Given the description of an element on the screen output the (x, y) to click on. 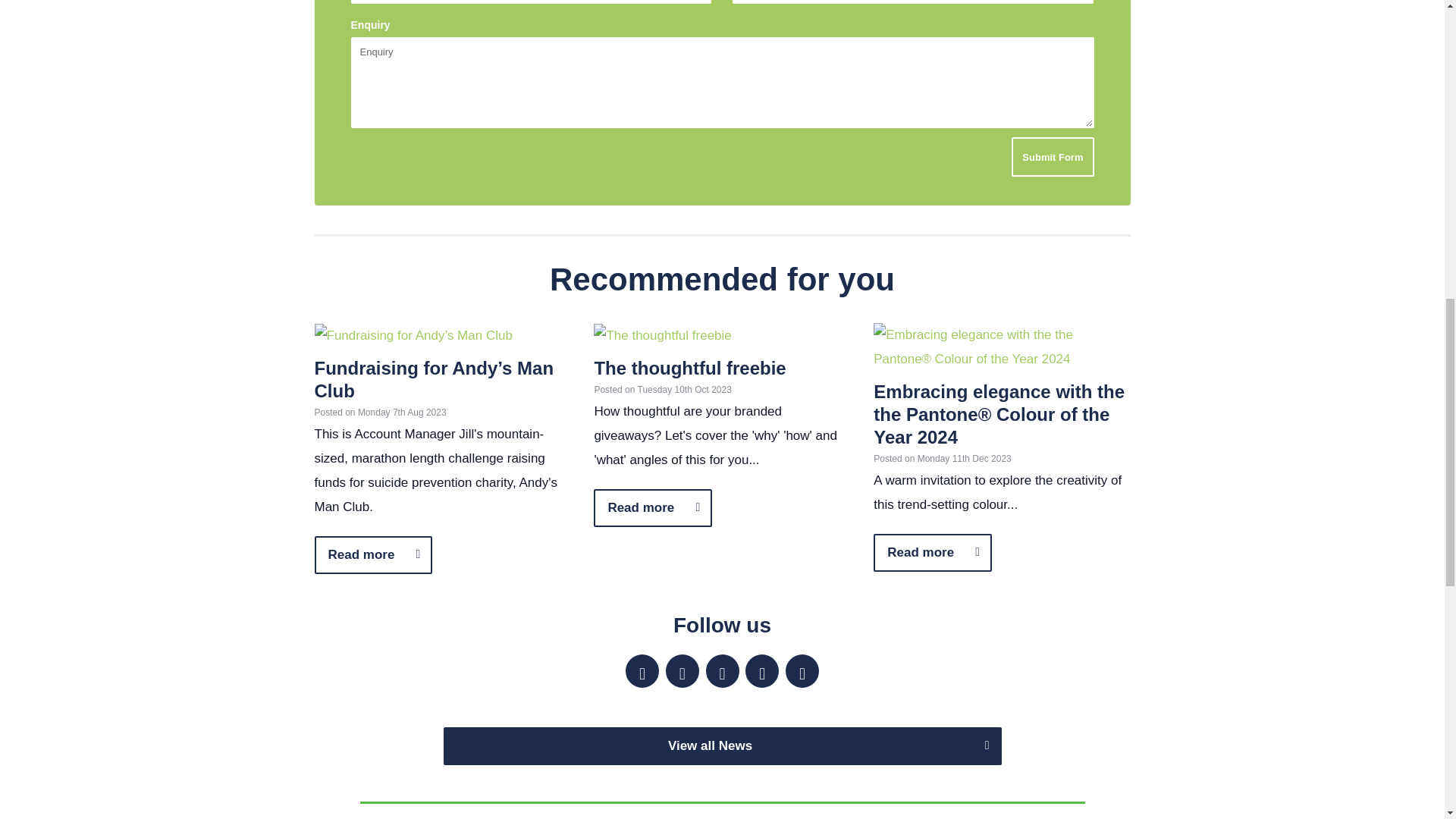
Linkedin (642, 670)
Facebook (721, 670)
Instagram (761, 670)
News (721, 745)
Twitter (681, 670)
Youtube (802, 670)
